Given the description of an element on the screen output the (x, y) to click on. 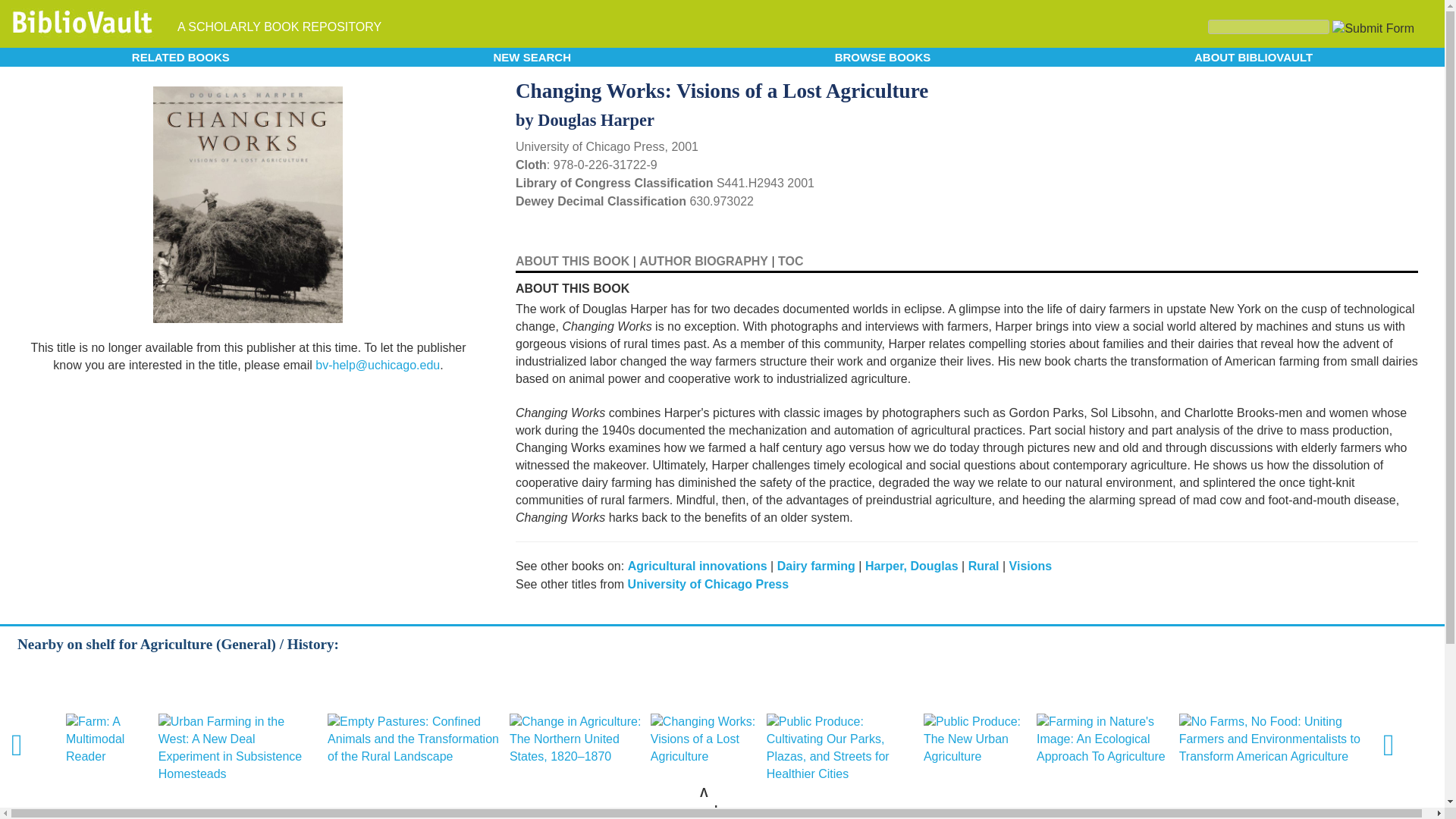
BROWSE BOOKS (882, 56)
Search (1268, 26)
Dairy farming (816, 565)
NEW SEARCH (532, 56)
Changing Works: Visions of a Lost Agriculture (703, 739)
ABOUT BIBLIOVAULT (1253, 56)
Share on Facebook (1384, 90)
Send as an email (1404, 87)
